Given the description of an element on the screen output the (x, y) to click on. 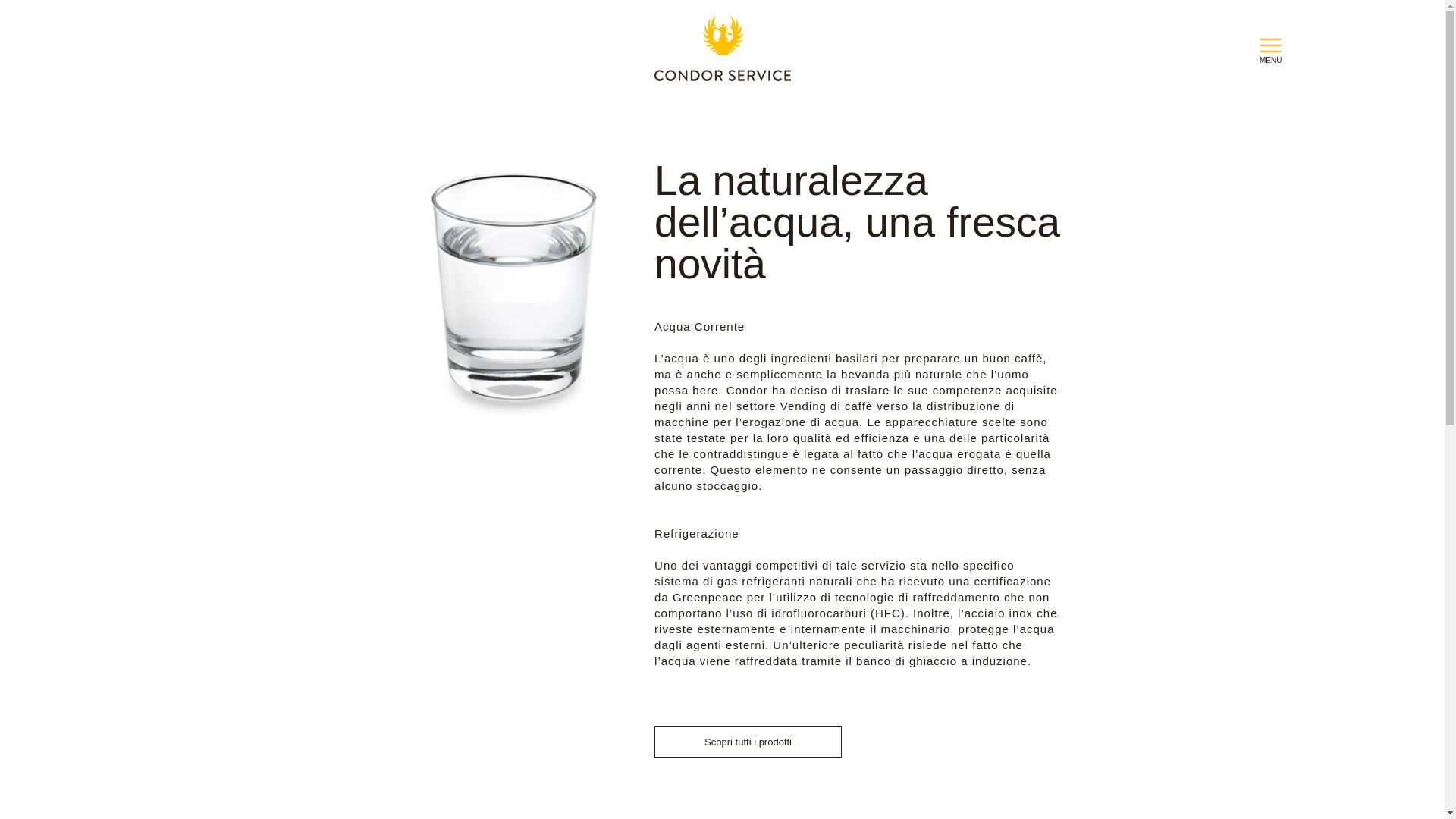
Scopri tutti i prodotti Element type: text (747, 741)
MENU Element type: text (1270, 52)
logo Element type: hover (721, 51)
